Given the description of an element on the screen output the (x, y) to click on. 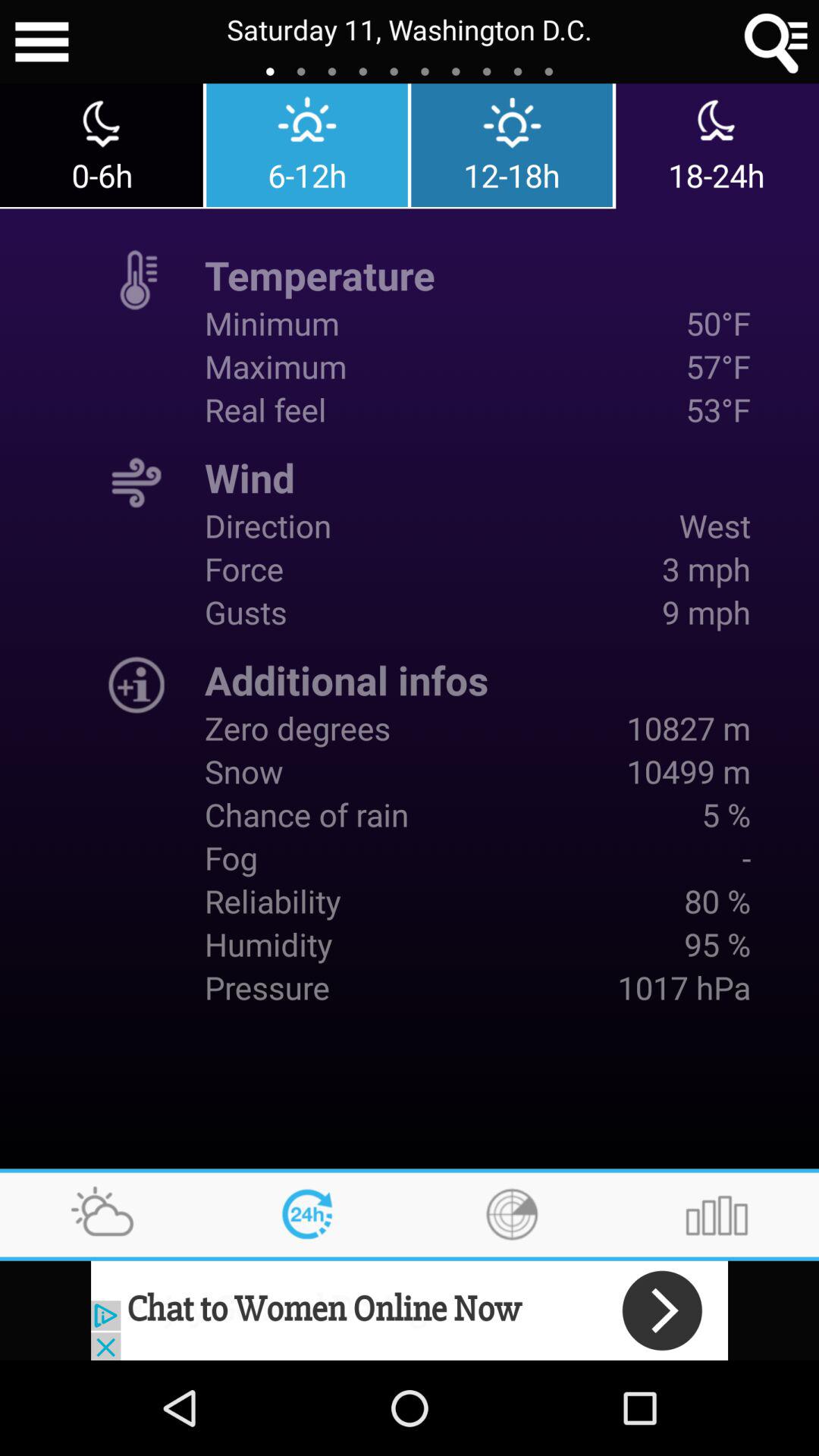
click menu option (41, 41)
